Given the description of an element on the screen output the (x, y) to click on. 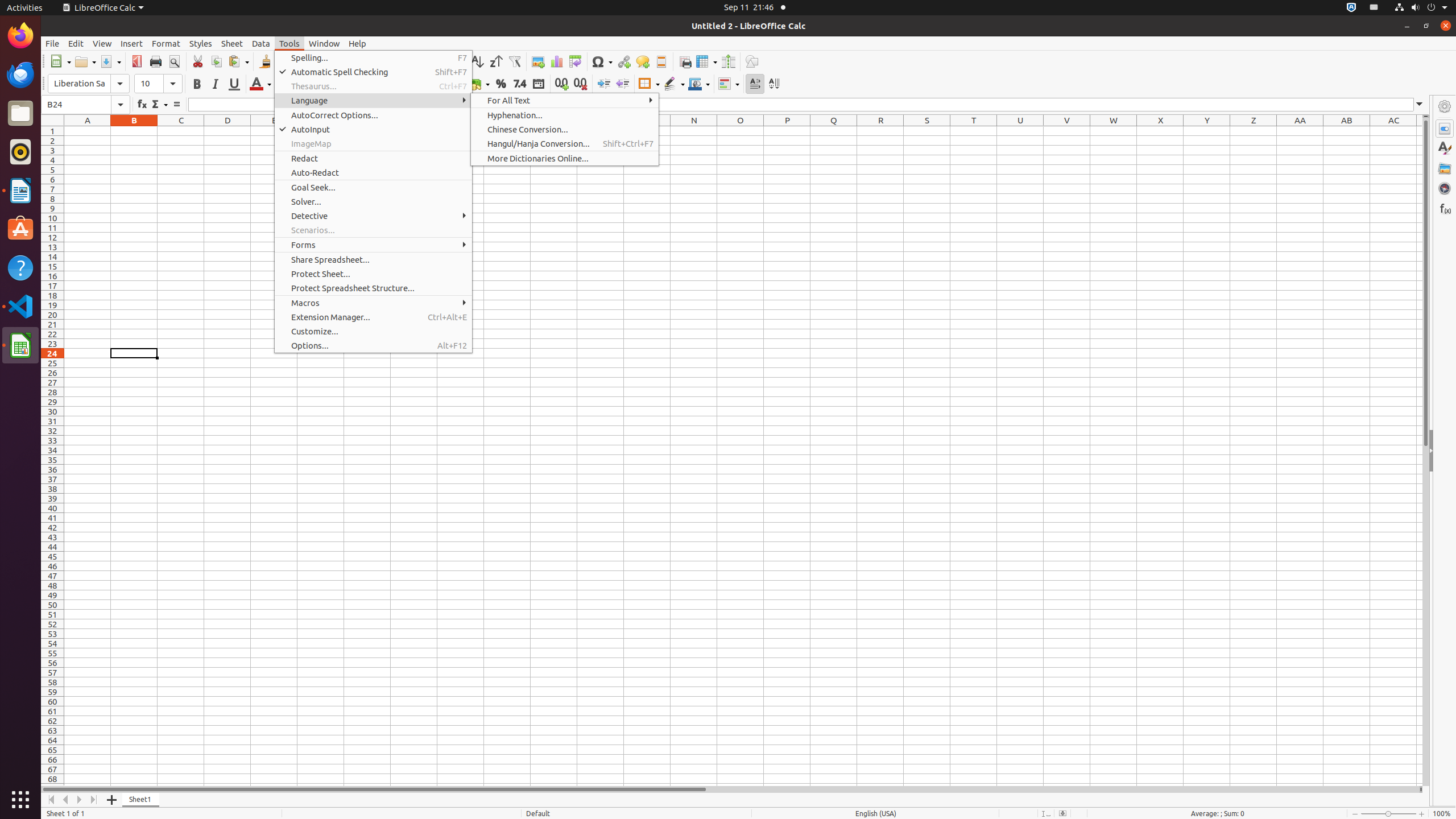
AB1 Element type: table-cell (1346, 130)
File Element type: menu (51, 43)
Redact Element type: menu-item (373, 158)
Format Element type: menu (165, 43)
Language Element type: menu (373, 100)
